Given the description of an element on the screen output the (x, y) to click on. 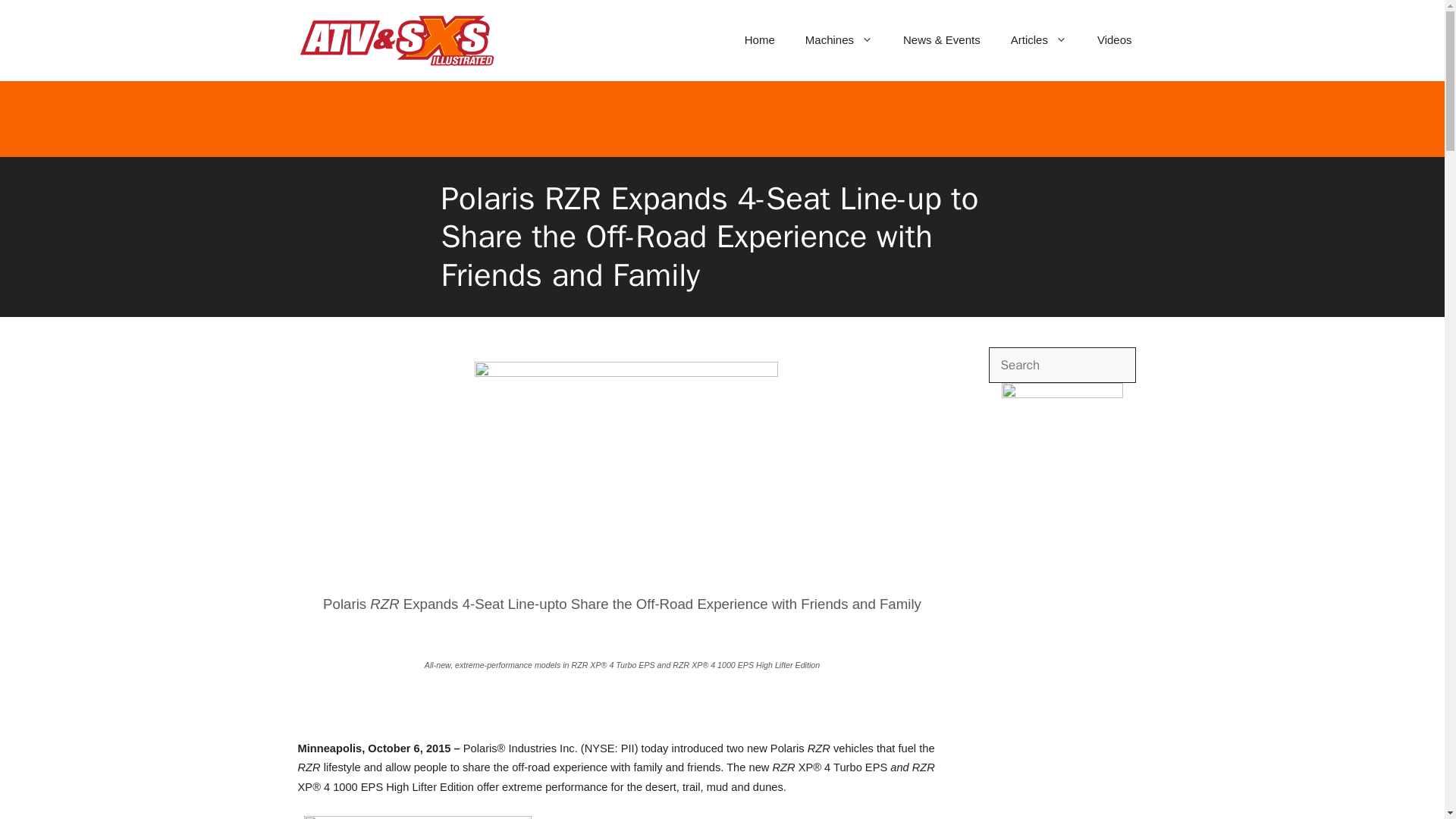
2016 RZR S 900 Blue Fire (417, 817)
Videos (1114, 40)
Articles (1038, 40)
Home (759, 40)
2016 RZR XP Turbo EPS Graphite Crystal (625, 372)
2016 RZR XP Turbo EPS Graphite Crystal (625, 462)
Machines (839, 40)
